Given the description of an element on the screen output the (x, y) to click on. 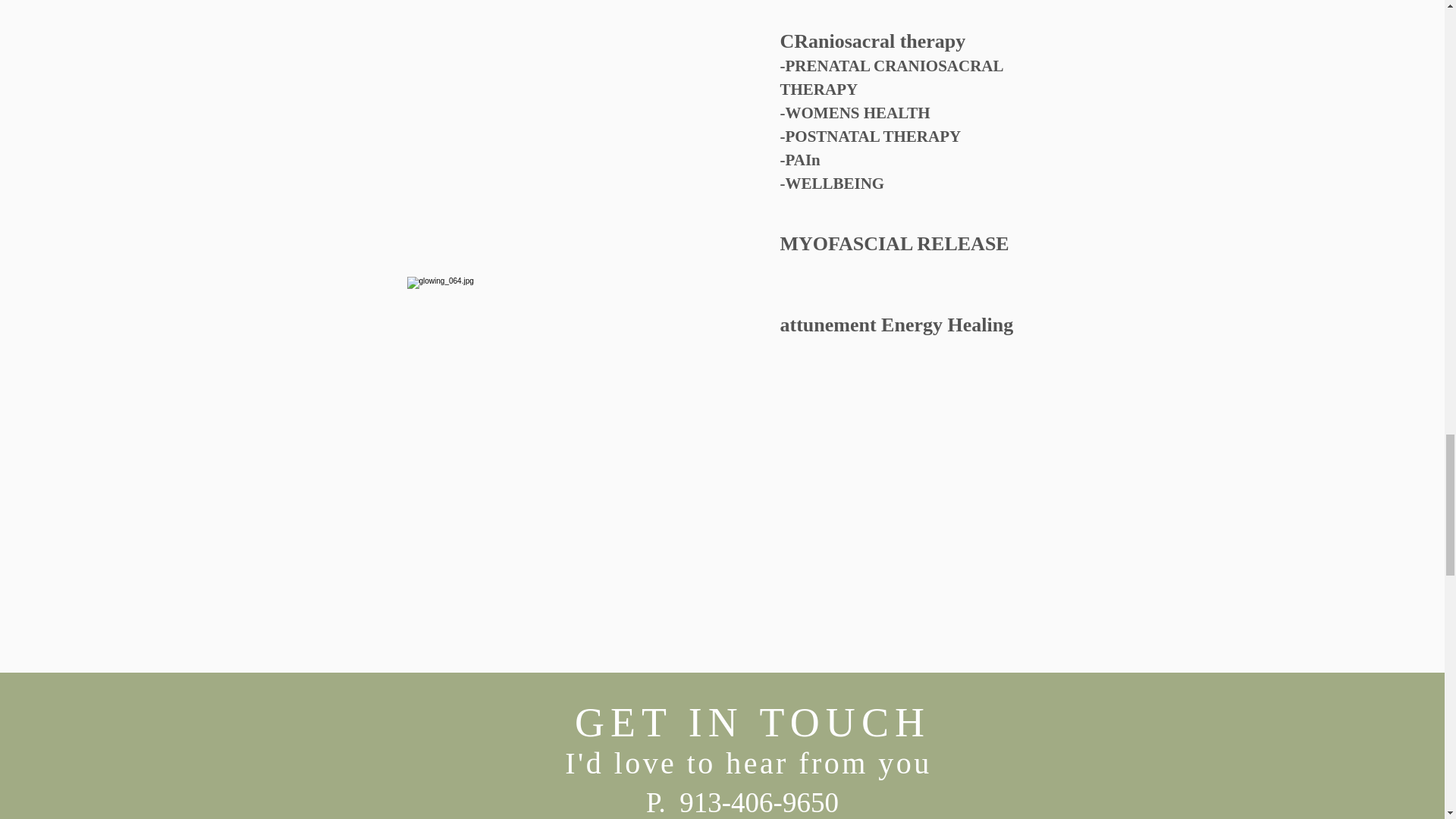
BOOK ONLINE (533, 278)
CRaniosacral therapy  (873, 41)
MYOFASCIAL RELEASE (893, 241)
BOOK ONLINE (933, 241)
attunement Energy Healing (895, 322)
